Given the description of an element on the screen output the (x, y) to click on. 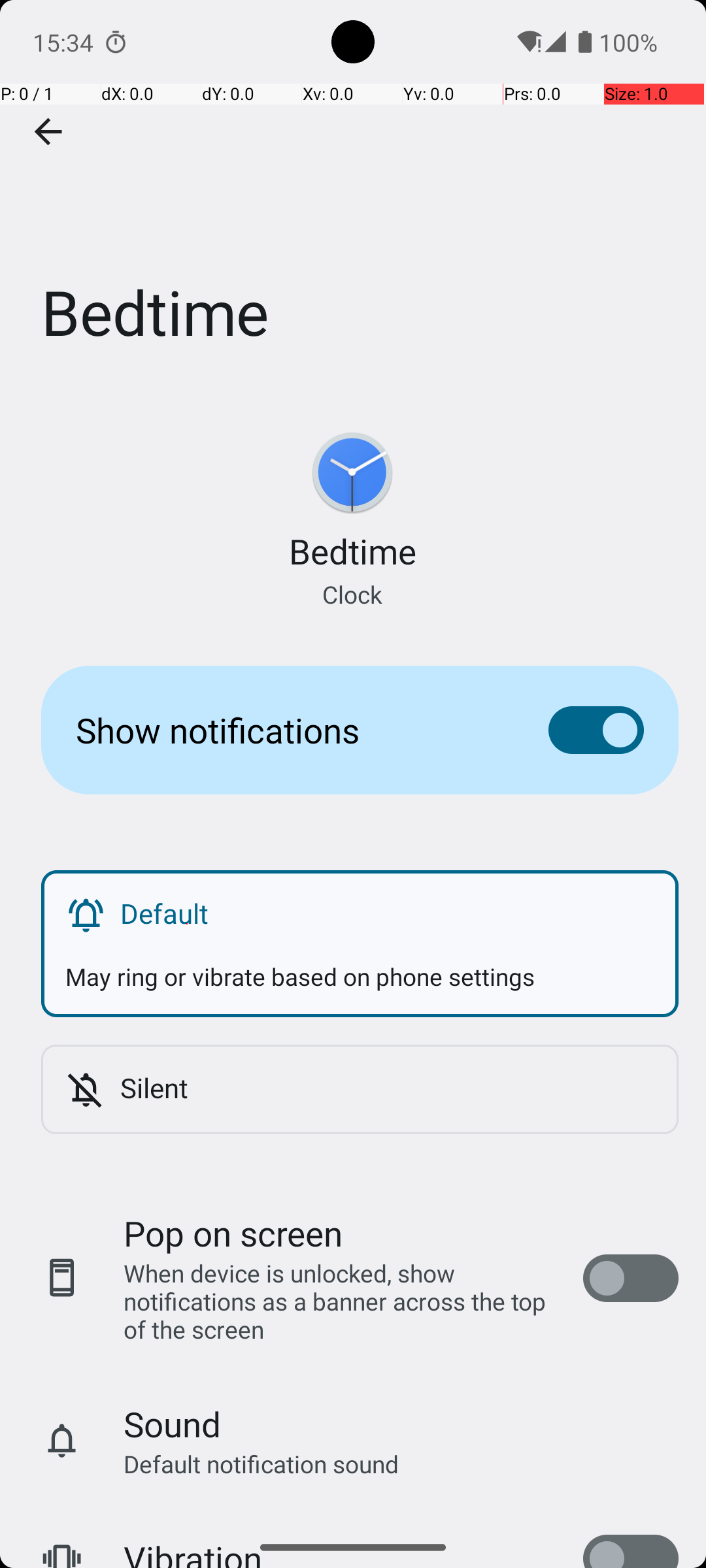
Show notifications Element type: android.widget.TextView (291, 729)
Pop on screen Element type: android.widget.TextView (233, 1232)
When device is unlocked, show notifications as a banner across the top of the screen Element type: android.widget.TextView (339, 1300)
Sound Element type: android.widget.TextView (171, 1423)
Default notification sound Element type: android.widget.TextView (260, 1463)
May ring or vibrate based on phone settings Element type: android.widget.TextView (359, 964)
Silent Element type: android.widget.TextView (387, 1087)
